Given the description of an element on the screen output the (x, y) to click on. 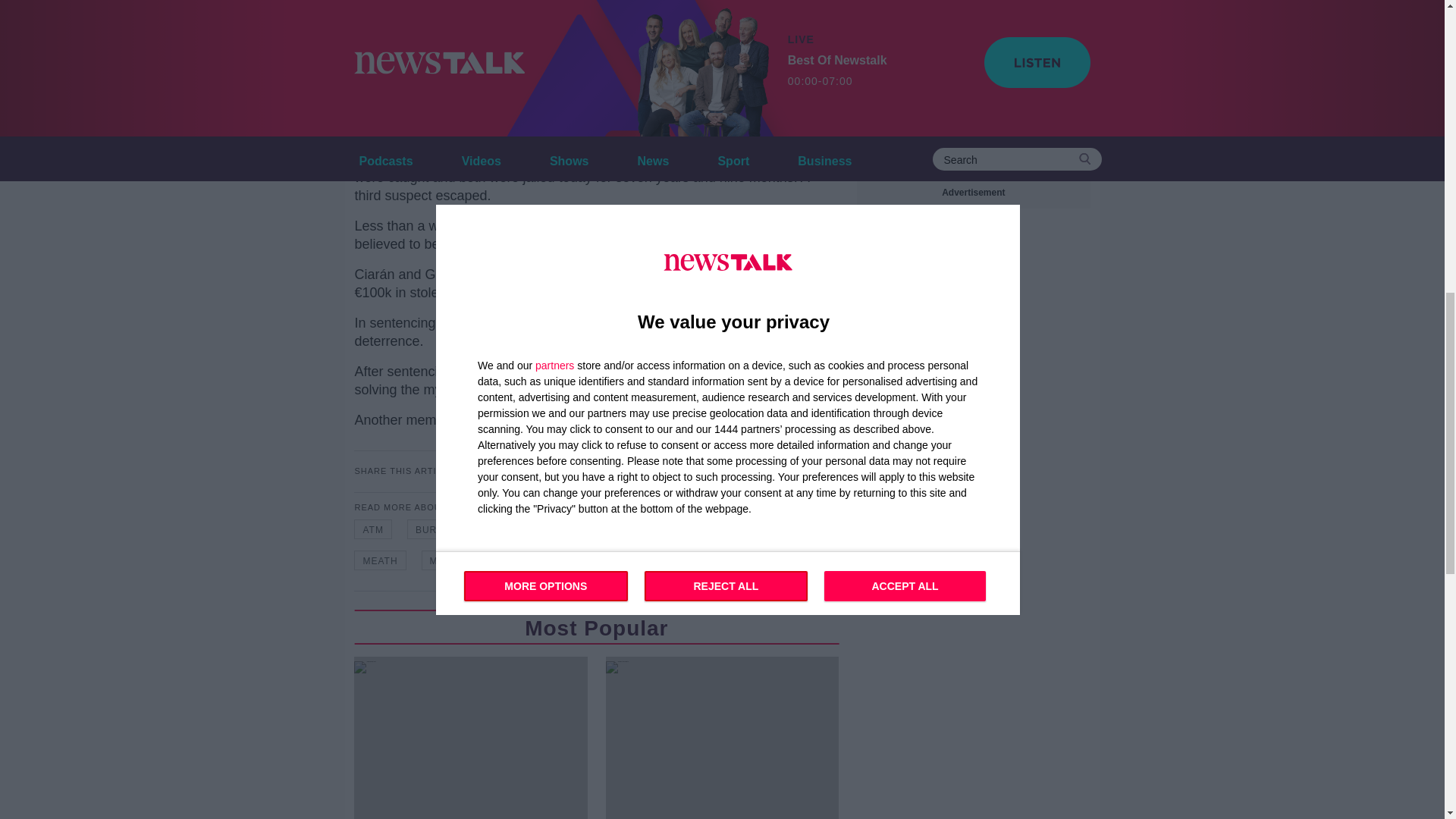
CAVAN (520, 528)
MEATH (379, 560)
GERARD DUFFY (717, 528)
BURGLARY (443, 528)
ATM (372, 528)
MONAGHAN (459, 560)
